Given the description of an element on the screen output the (x, y) to click on. 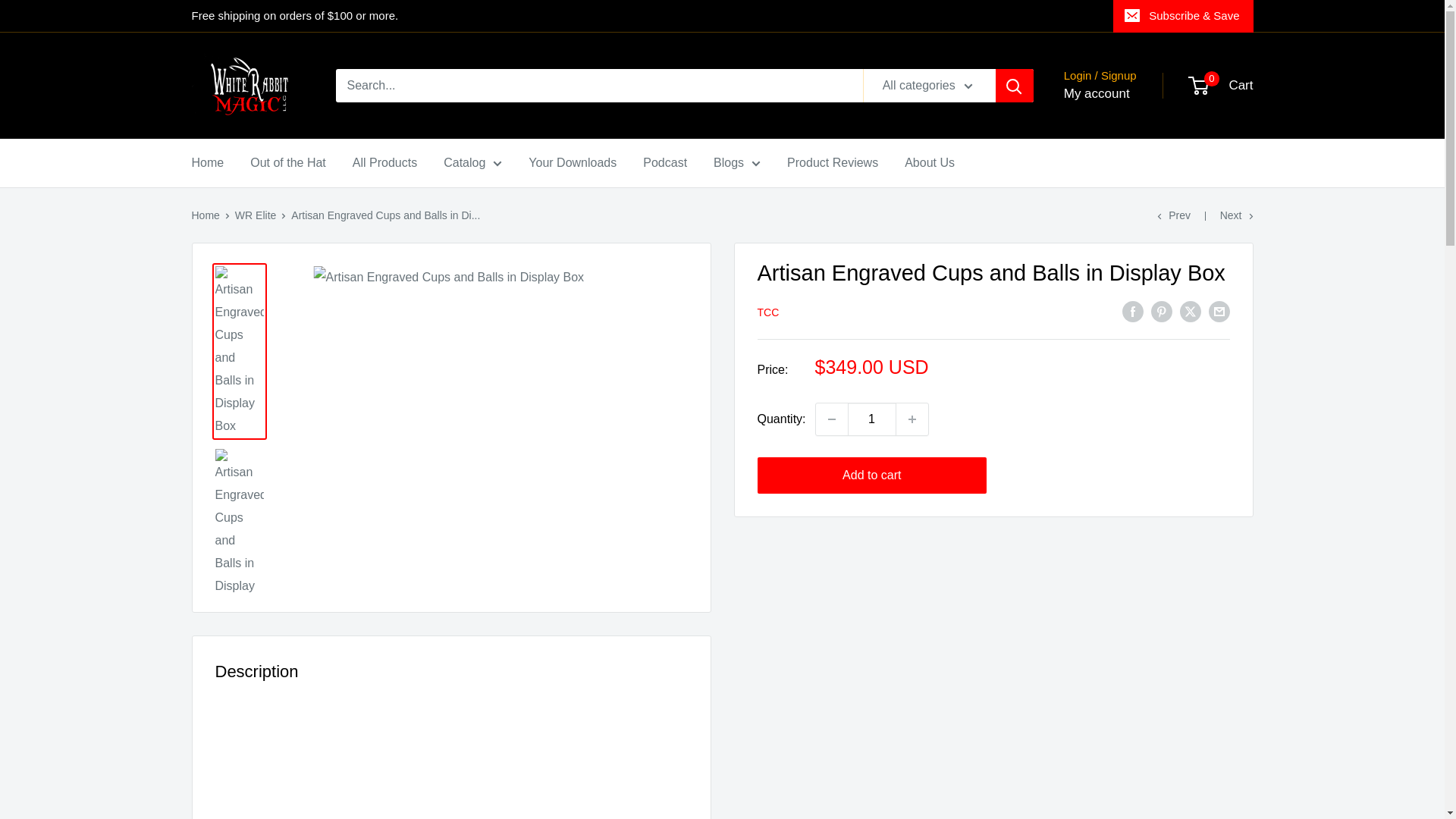
1 (871, 418)
Decrease quantity by 1 (831, 418)
Increase quantity by 1 (912, 418)
